Given the description of an element on the screen output the (x, y) to click on. 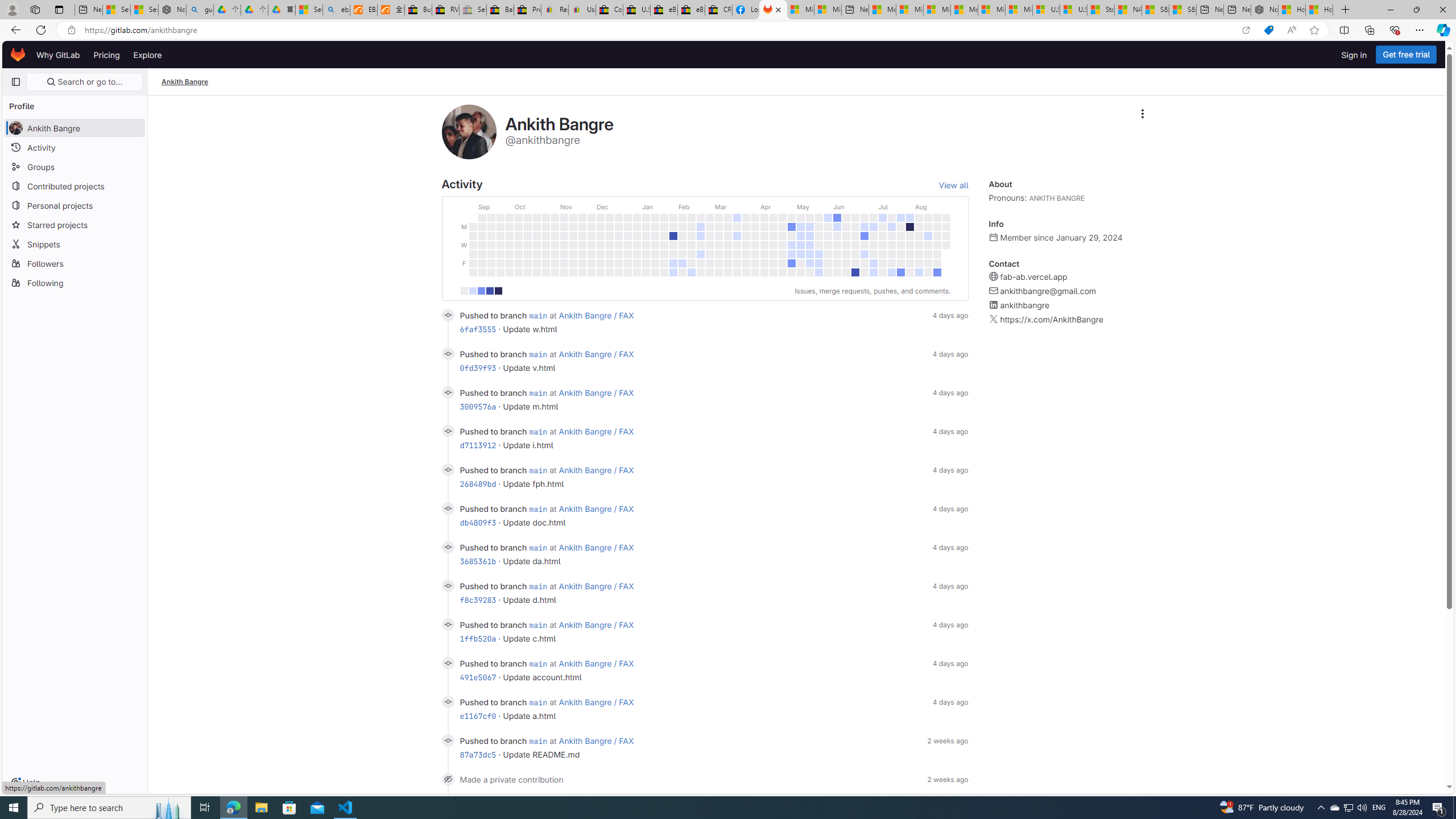
e1167cf0 (478, 715)
Ankith Bangre (184, 81)
Class: s14 (448, 740)
f8c39283 (478, 599)
avatar Ankith Bangre (74, 127)
